Given the description of an element on the screen output the (x, y) to click on. 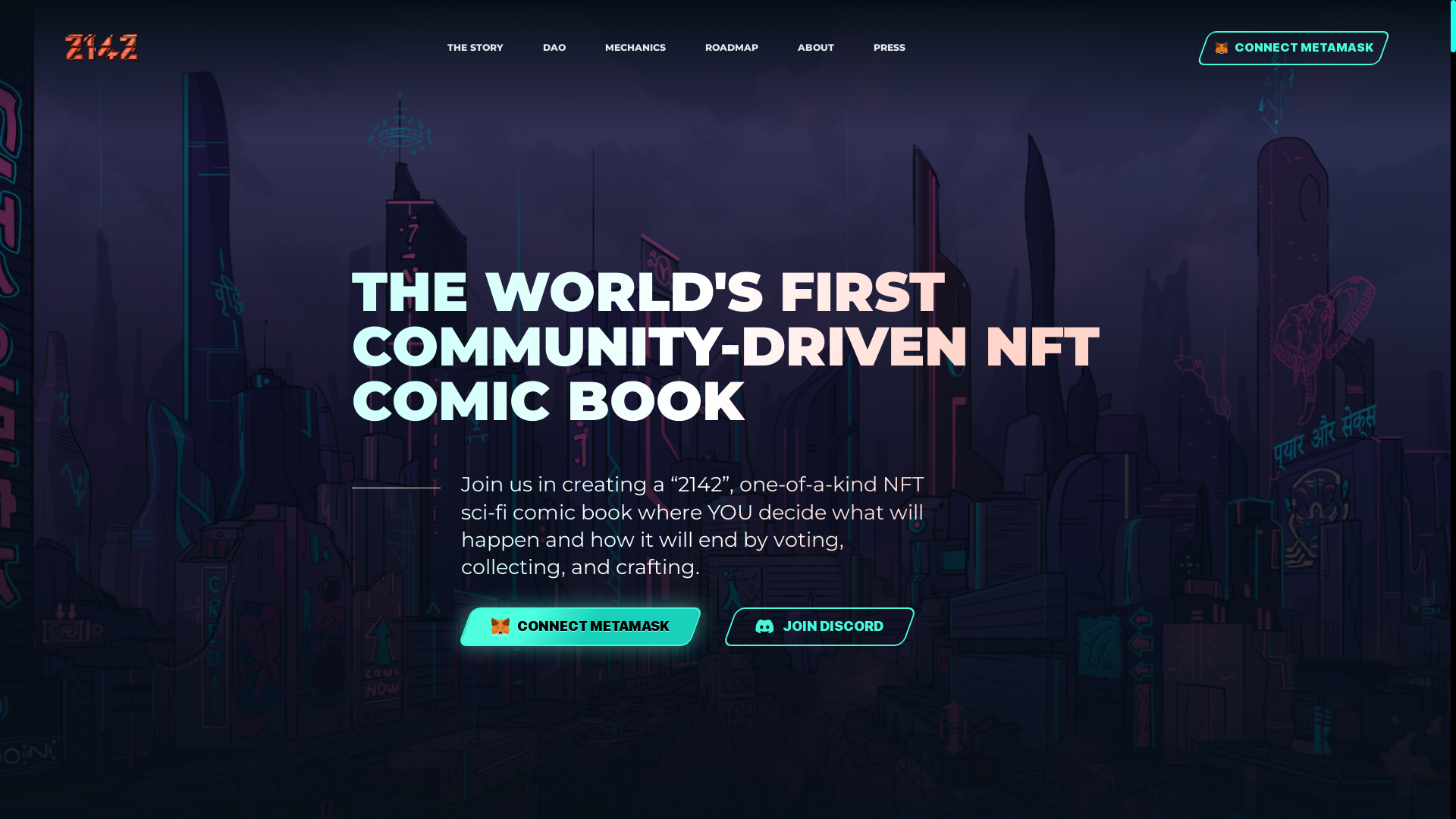
PRESS Element type: text (889, 47)
MECHANICS Element type: text (635, 47)
CONNECT METAMASK Element type: text (572, 626)
JOIN DISCORD Element type: text (812, 626)
ABOUT Element type: text (815, 47)
CONNECT METAMASK Element type: text (1287, 48)
THE STORY Element type: text (475, 47)
ROADMAP Element type: text (731, 47)
DAO Element type: text (553, 47)
